Given the description of an element on the screen output the (x, y) to click on. 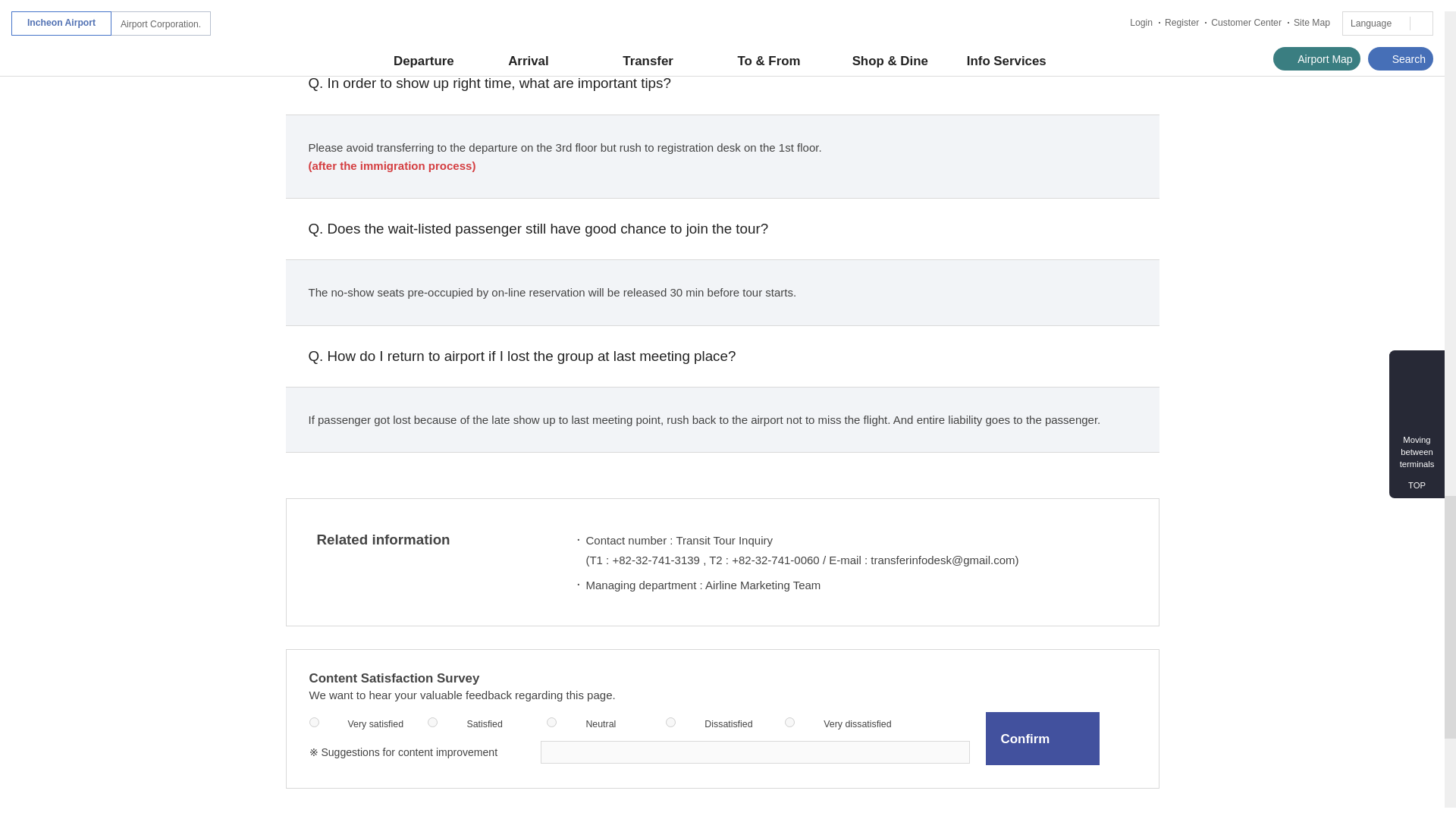
4 (670, 722)
5 (789, 722)
1 (313, 722)
3 (551, 722)
2 (433, 722)
